Given the description of an element on the screen output the (x, y) to click on. 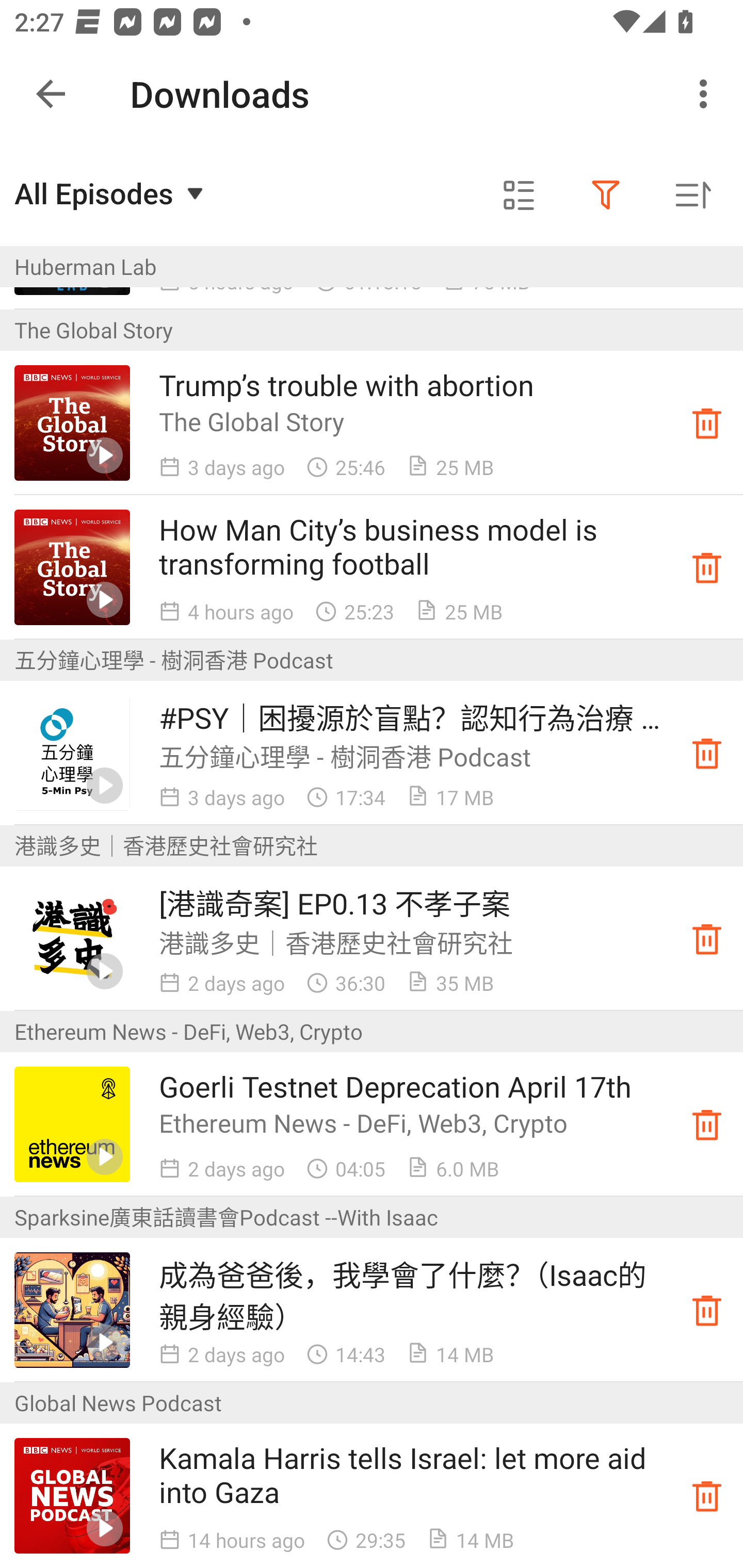
Navigate up (50, 93)
More options (706, 93)
All Episodes (111, 192)
 (518, 195)
 (605, 195)
 Sorted by oldest first (692, 195)
Downloaded (706, 423)
Downloaded (706, 567)
Downloaded (706, 752)
Downloaded (706, 938)
Downloaded (706, 1124)
Downloaded (706, 1309)
Downloaded (706, 1495)
